Given the description of an element on the screen output the (x, y) to click on. 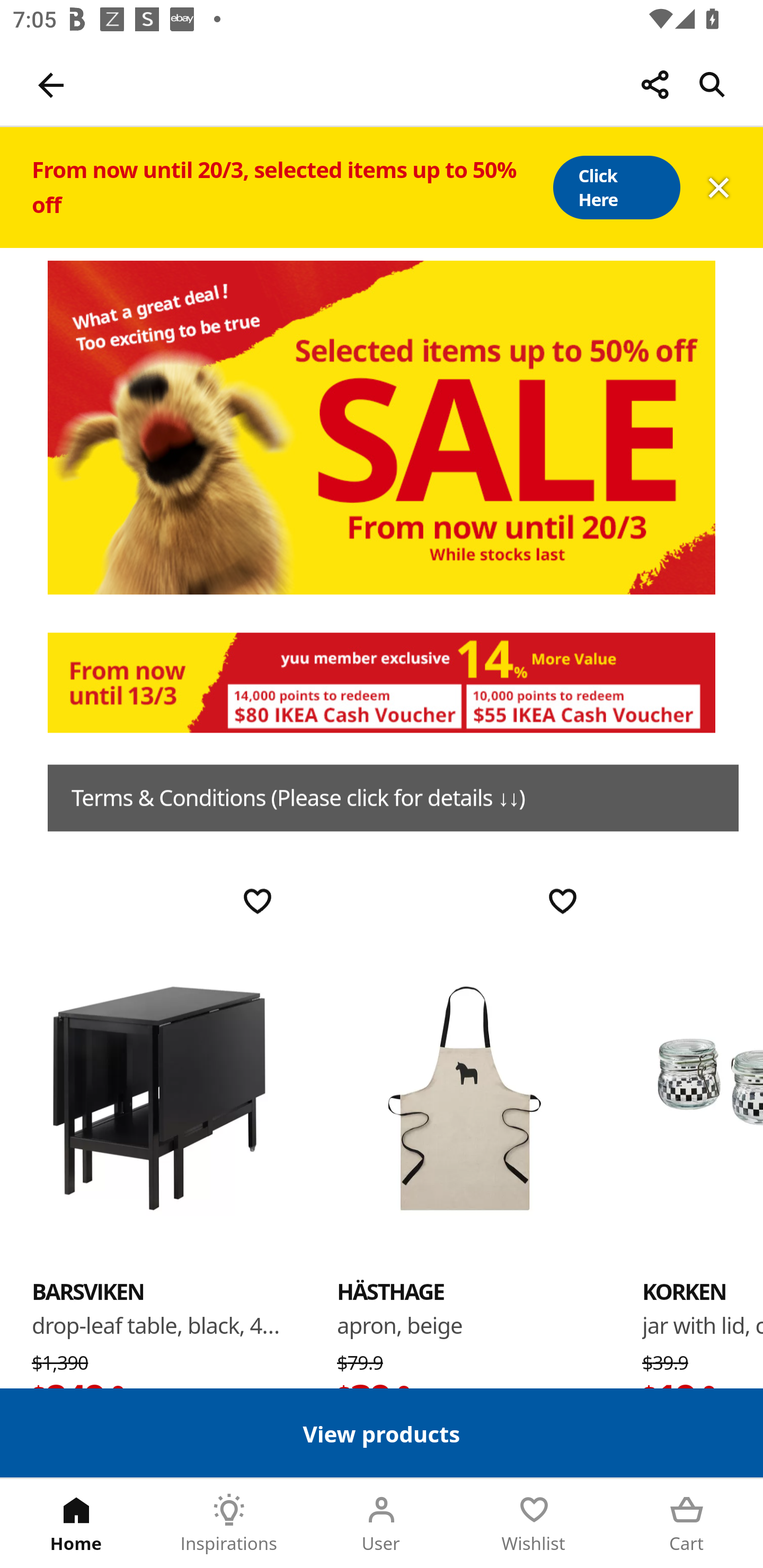
Click Here (615, 187)
Terms & Conditions (Please click for details ↓↓) (393, 798)
BARSVIKEN (159, 1096)
HÄSTHAGE (464, 1096)
KORKEN (702, 1096)
BARSVIKEN (88, 1290)
HÄSTHAGE (390, 1290)
KORKEN (684, 1290)
View products (381, 1432)
Home
Tab 1 of 5 (76, 1522)
Inspirations
Tab 2 of 5 (228, 1522)
User
Tab 3 of 5 (381, 1522)
Wishlist
Tab 4 of 5 (533, 1522)
Cart
Tab 5 of 5 (686, 1522)
